Given the description of an element on the screen output the (x, y) to click on. 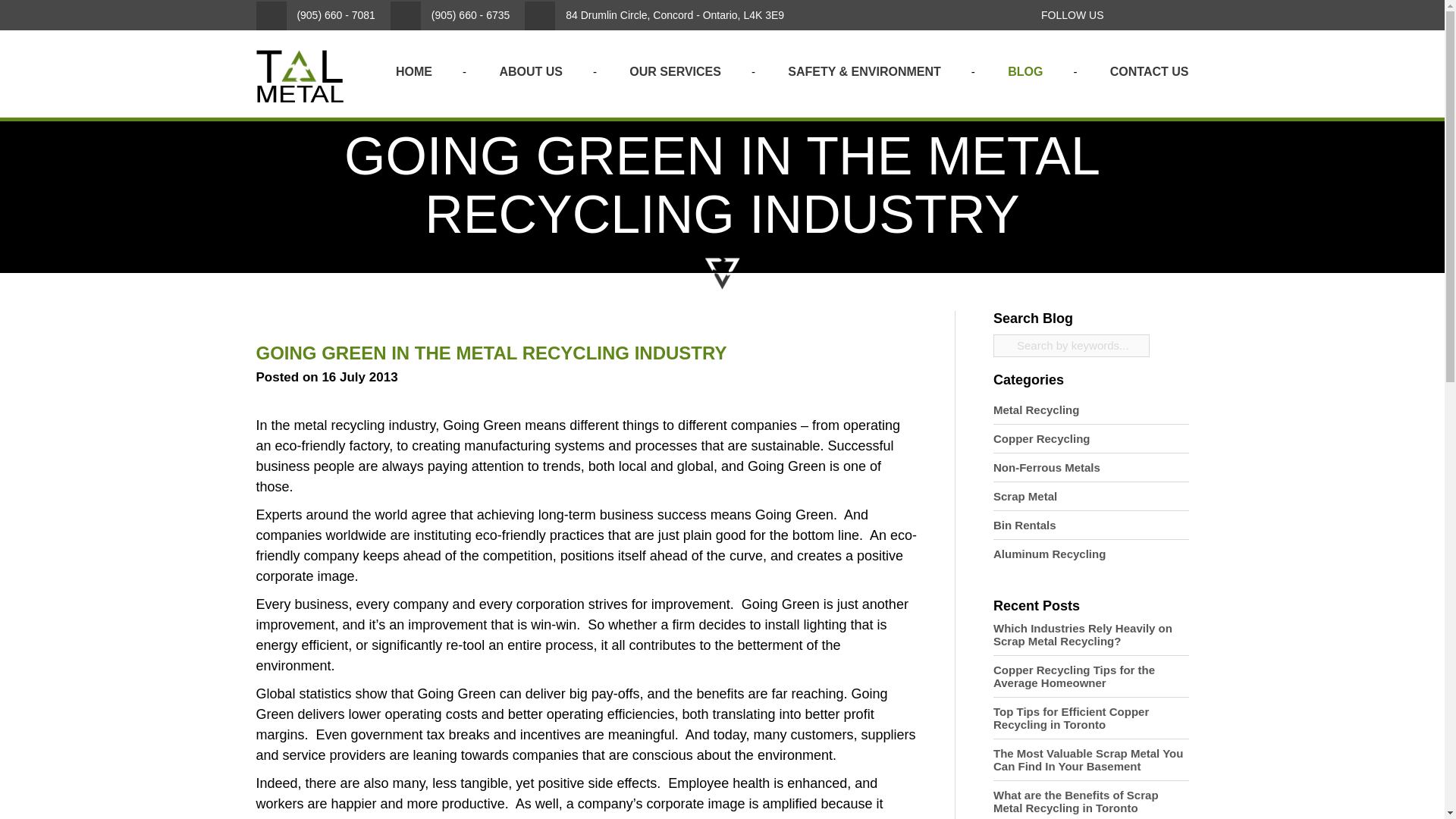
Top Tips for Efficient Copper Recycling in Toronto (1090, 718)
HOME (414, 71)
Copper Recycling Tips for the Average Homeowner (1090, 676)
Which Industries Rely Heavily on Scrap Metal Recycling? (1090, 634)
What are the Benefits of Scrap Metal Recycling in Toronto (1090, 801)
ABOUT US (530, 71)
Non-Ferrous Metals (1046, 467)
Copper Recycling (1041, 438)
84 Drumlin Circle, Concord - Ontario, L4K 3E9 (654, 15)
Bin Rentals (1024, 524)
BLOG (1024, 71)
Metal Recycling (1035, 409)
CONTACT US (1149, 71)
Scrap Metal (1024, 495)
Aluminum Recycling (1048, 553)
